Given the description of an element on the screen output the (x, y) to click on. 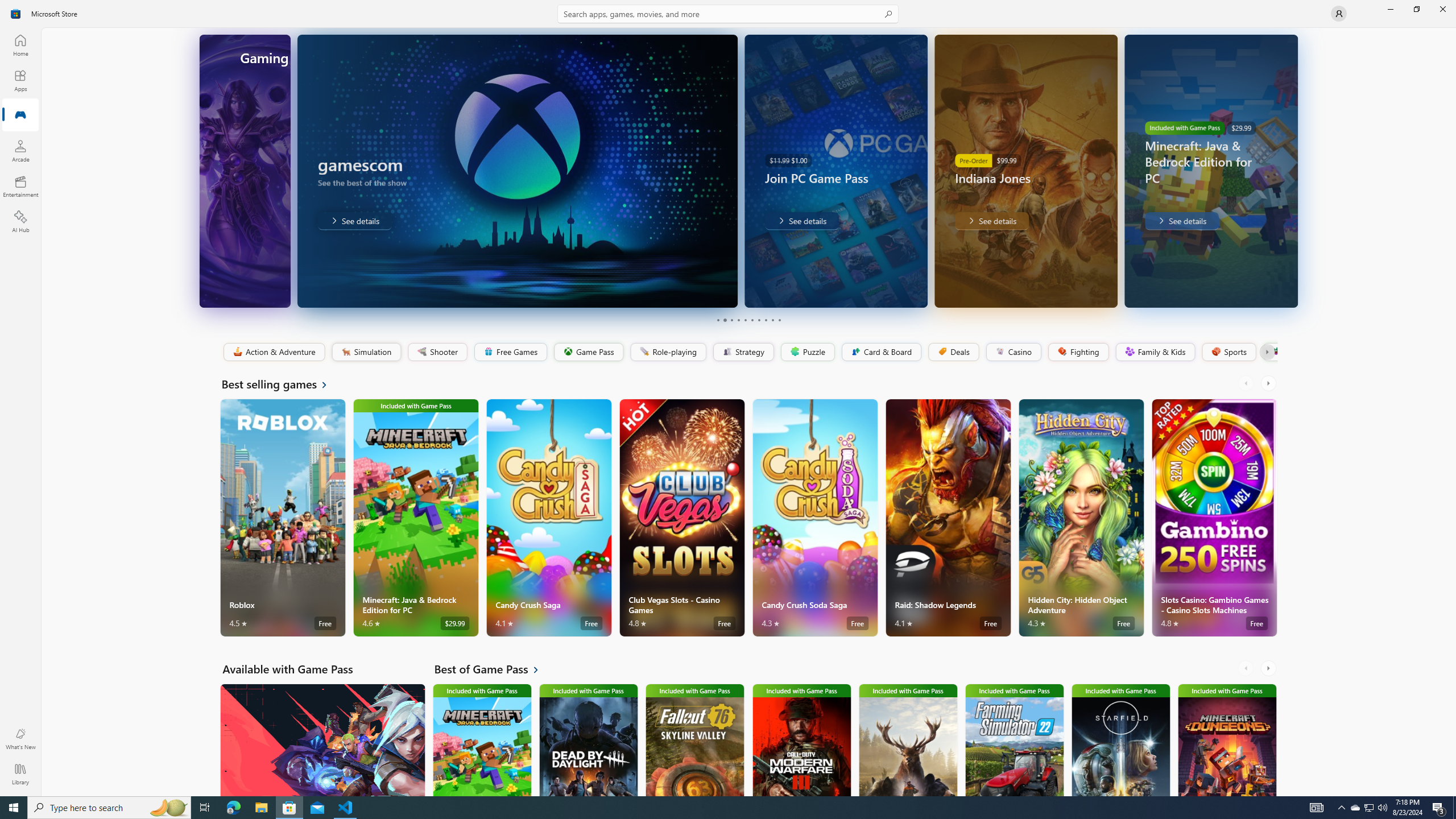
Card & Board (880, 352)
Apps (20, 80)
Page 7 (758, 319)
Page 3 (731, 319)
gamescom. See the best of the show.  . See details (277, 221)
Game Pass (588, 352)
Home (20, 45)
Free Games (509, 352)
Page 4 (738, 319)
Class: Button (1266, 351)
Close Microsoft Store (1442, 9)
Arcade (20, 150)
